Given the description of an element on the screen output the (x, y) to click on. 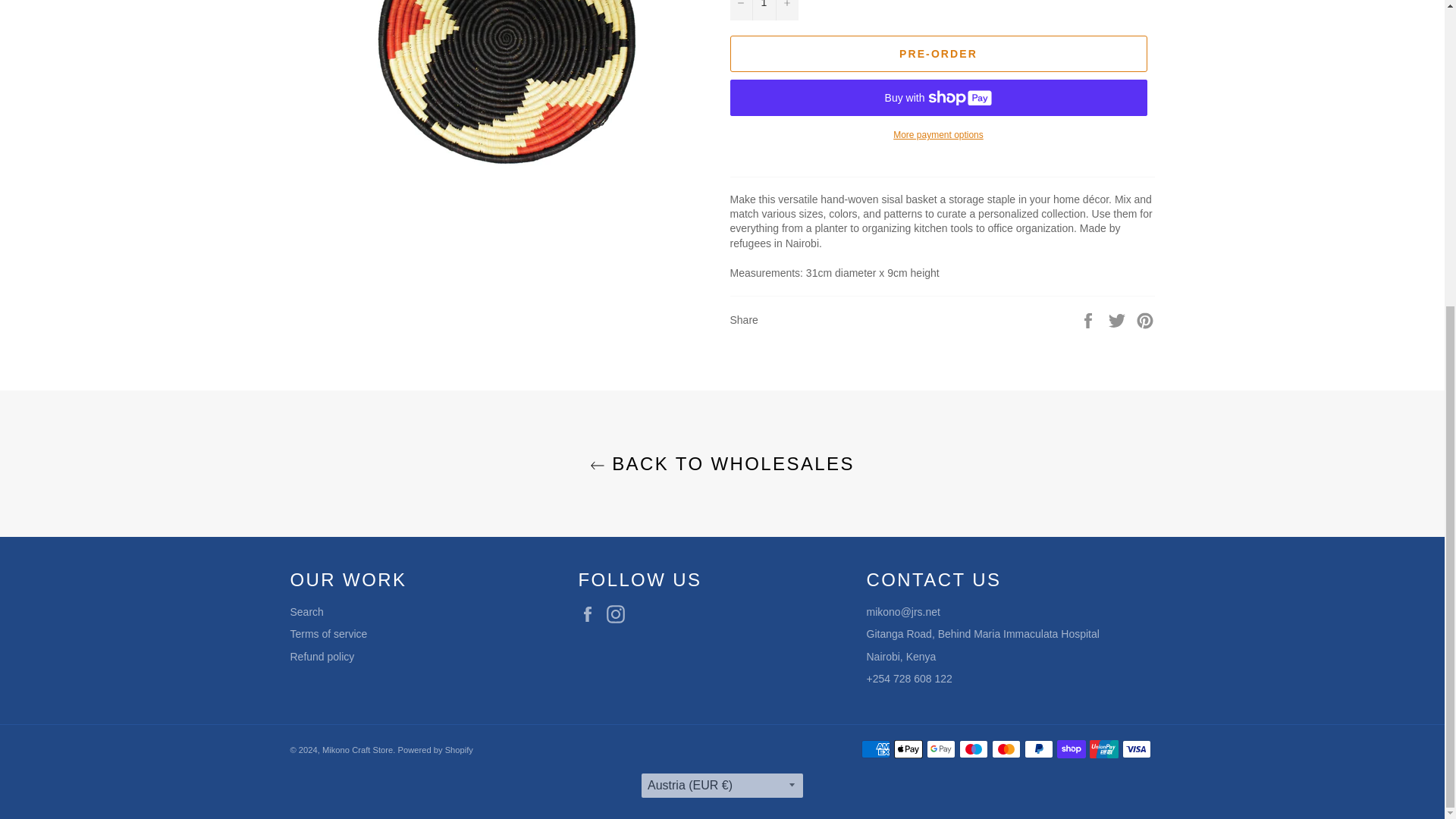
Share on Facebook (1089, 319)
1 (763, 10)
Mikono Craft Store on Facebook (591, 614)
Mikono Craft Store on Instagram (619, 614)
Tweet on Twitter (1118, 319)
Pin on Pinterest (1144, 319)
